Given the description of an element on the screen output the (x, y) to click on. 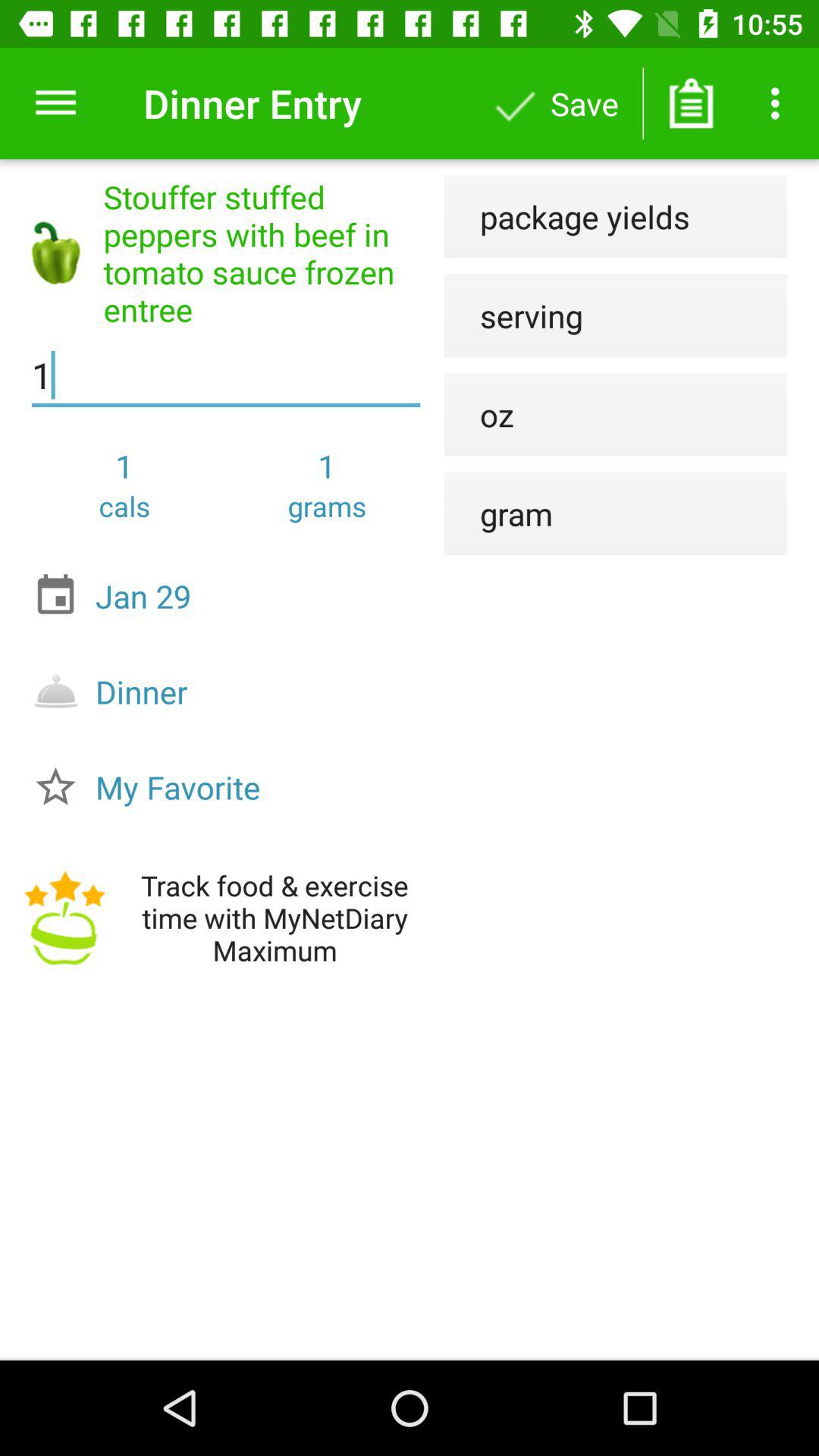
launch icon above   gram icon (479, 414)
